Given the description of an element on the screen output the (x, y) to click on. 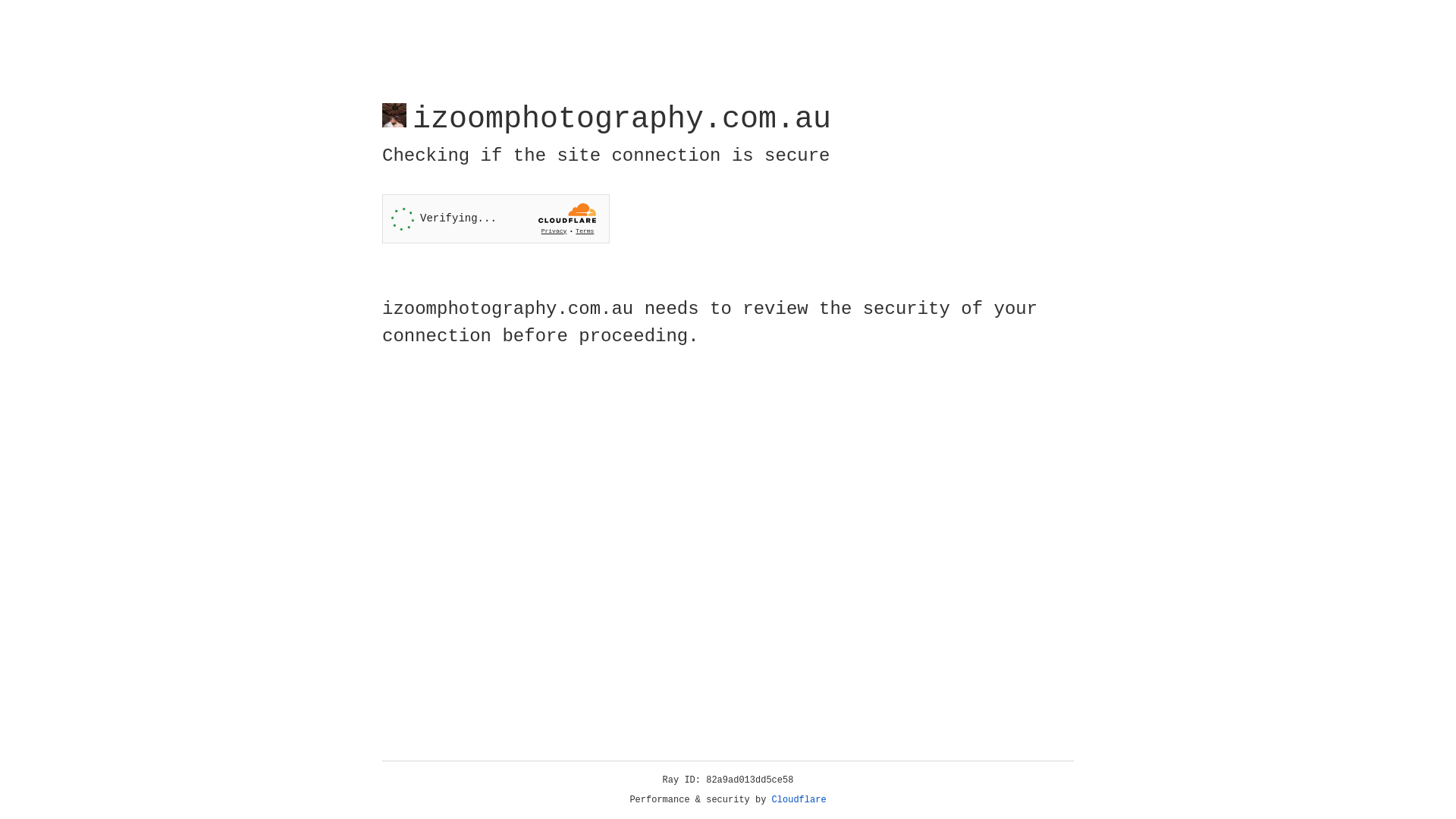
Widget containing a Cloudflare security challenge Element type: hover (495, 218)
Cloudflare Element type: text (798, 799)
